Given the description of an element on the screen output the (x, y) to click on. 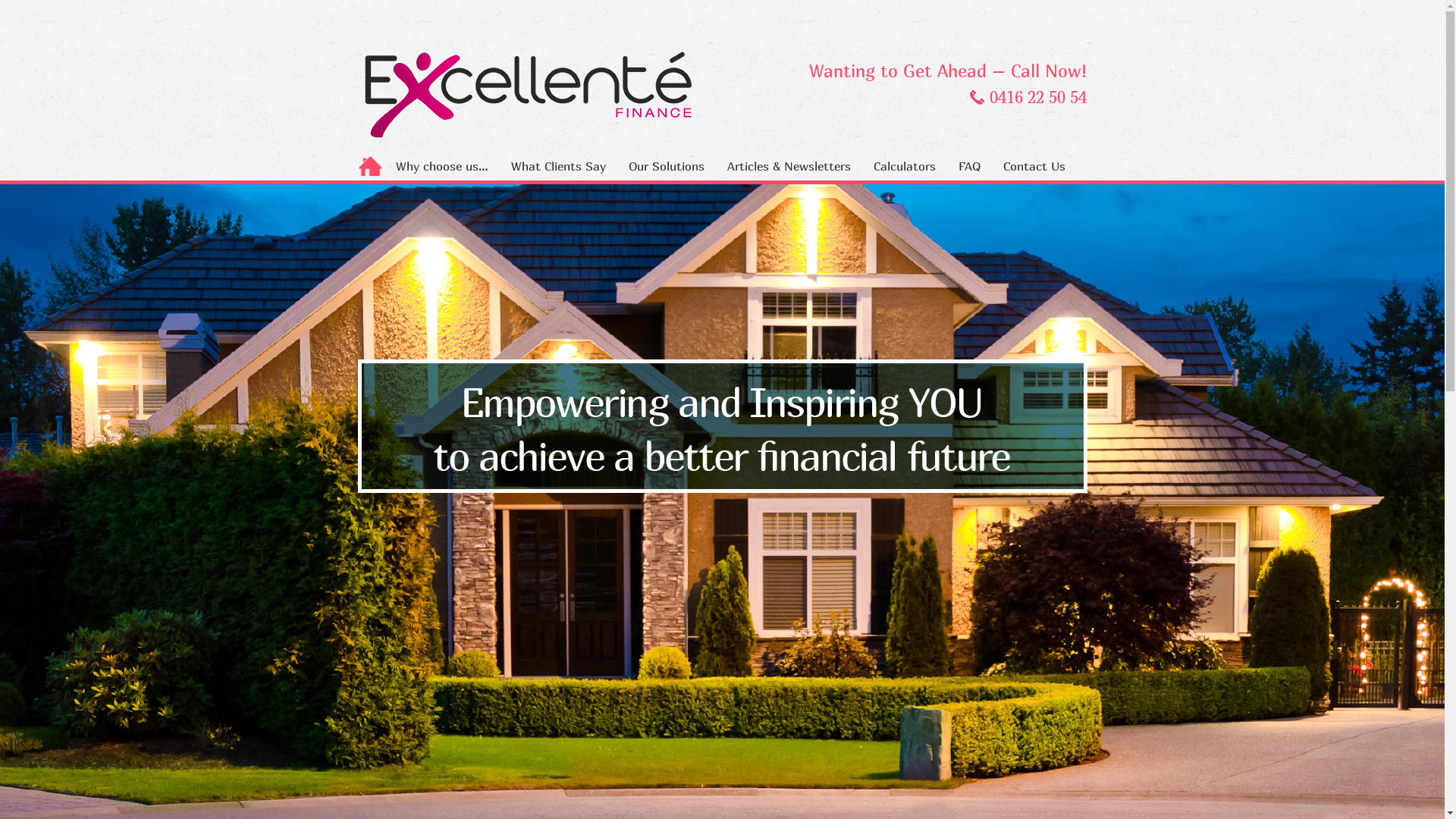
What Clients Say Element type: text (554, 165)
FAQ Element type: text (965, 165)
Excellente Finance Element type: text (526, 96)
Our Solutions Element type: text (663, 165)
Articles & Newsletters Element type: text (785, 165)
Calculators Element type: text (900, 165)
Contact Us Element type: text (1030, 165)
Home Element type: text (368, 165)
